Given the description of an element on the screen output the (x, y) to click on. 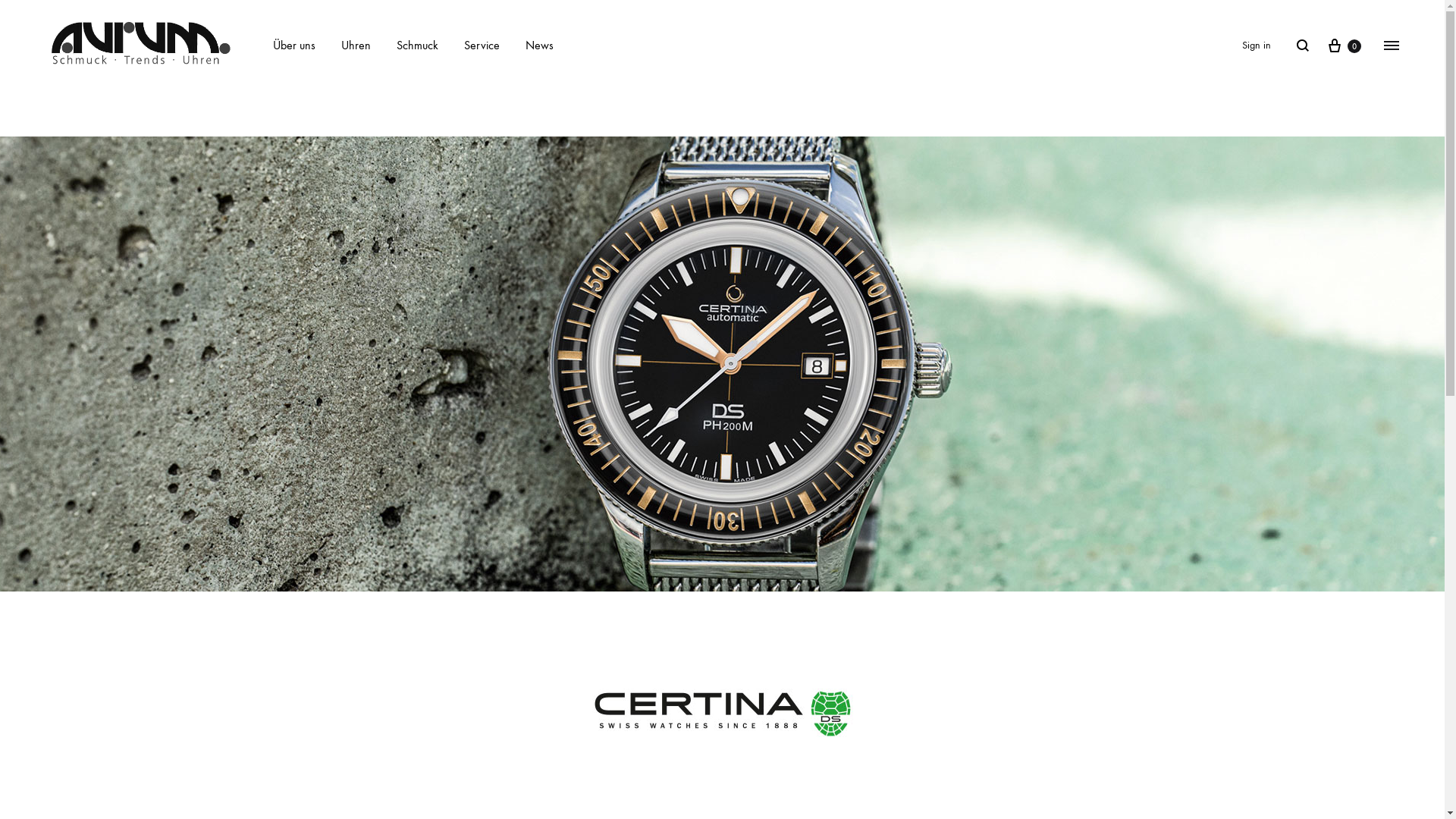
News Element type: text (539, 45)
Sign in Element type: text (1256, 45)
Uhren Element type: text (355, 45)
Service Element type: text (481, 45)
Schmuck Element type: text (417, 45)
0 Element type: text (1343, 45)
